Given the description of an element on the screen output the (x, y) to click on. 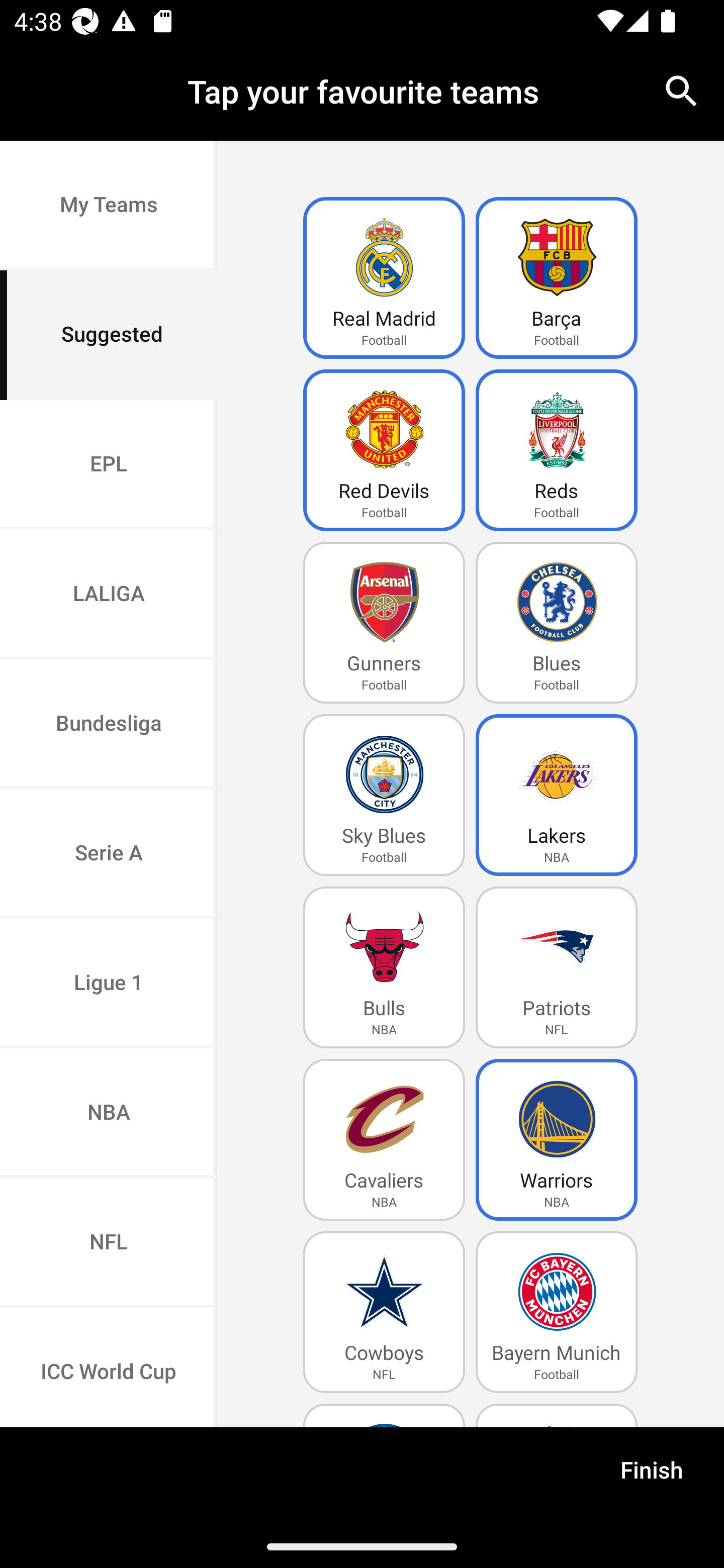
search (681, 90)
My Teams (108, 206)
Real Madrid Real MadridSelected Football (383, 278)
Barça BarçaSelected Football (556, 278)
Suggested (108, 334)
Red Devils Red DevilsSelected Football (383, 450)
Reds RedsSelected Football (556, 450)
EPL (108, 464)
LALIGA (108, 594)
Gunners Gunners Football (383, 623)
Blues Blues Football (556, 623)
Bundesliga (108, 725)
Sky Blues Sky Blues Football (383, 794)
Lakers LakersSelected NBA (556, 794)
Serie A (108, 853)
Bulls Bulls NBA (383, 966)
Patriots Patriots NFL (556, 966)
Ligue 1 (108, 983)
NBA (108, 1113)
Cavaliers Cavaliers NBA (383, 1139)
Warriors WarriorsSelected NBA (556, 1139)
NFL (108, 1242)
Cowboys Cowboys NFL (383, 1311)
Bayern Munich Bayern Munich Football (556, 1311)
ICC World Cup (108, 1366)
Finish Finish and Close (651, 1475)
